Given the description of an element on the screen output the (x, y) to click on. 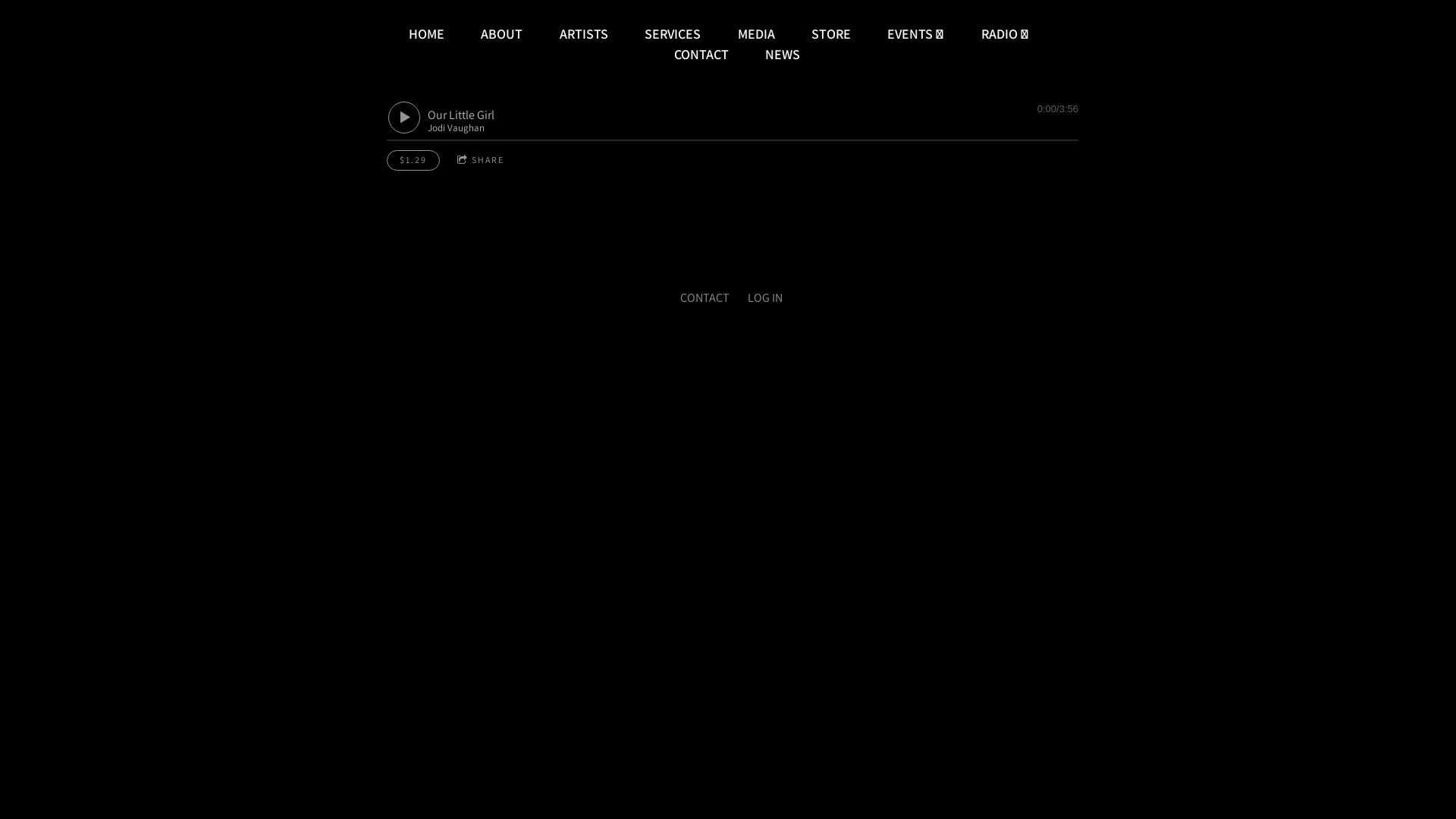
SHARE Element type: text (480, 159)
ABOUT Element type: text (501, 33)
RADIO Element type: text (1005, 33)
Play Element type: hover (404, 117)
EVENTS Element type: text (915, 33)
STORE Element type: text (830, 33)
HOME Element type: text (426, 33)
$1.29 Element type: text (412, 160)
SERVICES Element type: text (672, 33)
ARTISTS Element type: text (583, 33)
LOG IN Element type: text (764, 297)
CONTACT Element type: text (701, 53)
CONTACT Element type: text (703, 297)
MEDIA Element type: text (756, 33)
NEWS Element type: text (782, 53)
